Given the description of an element on the screen output the (x, y) to click on. 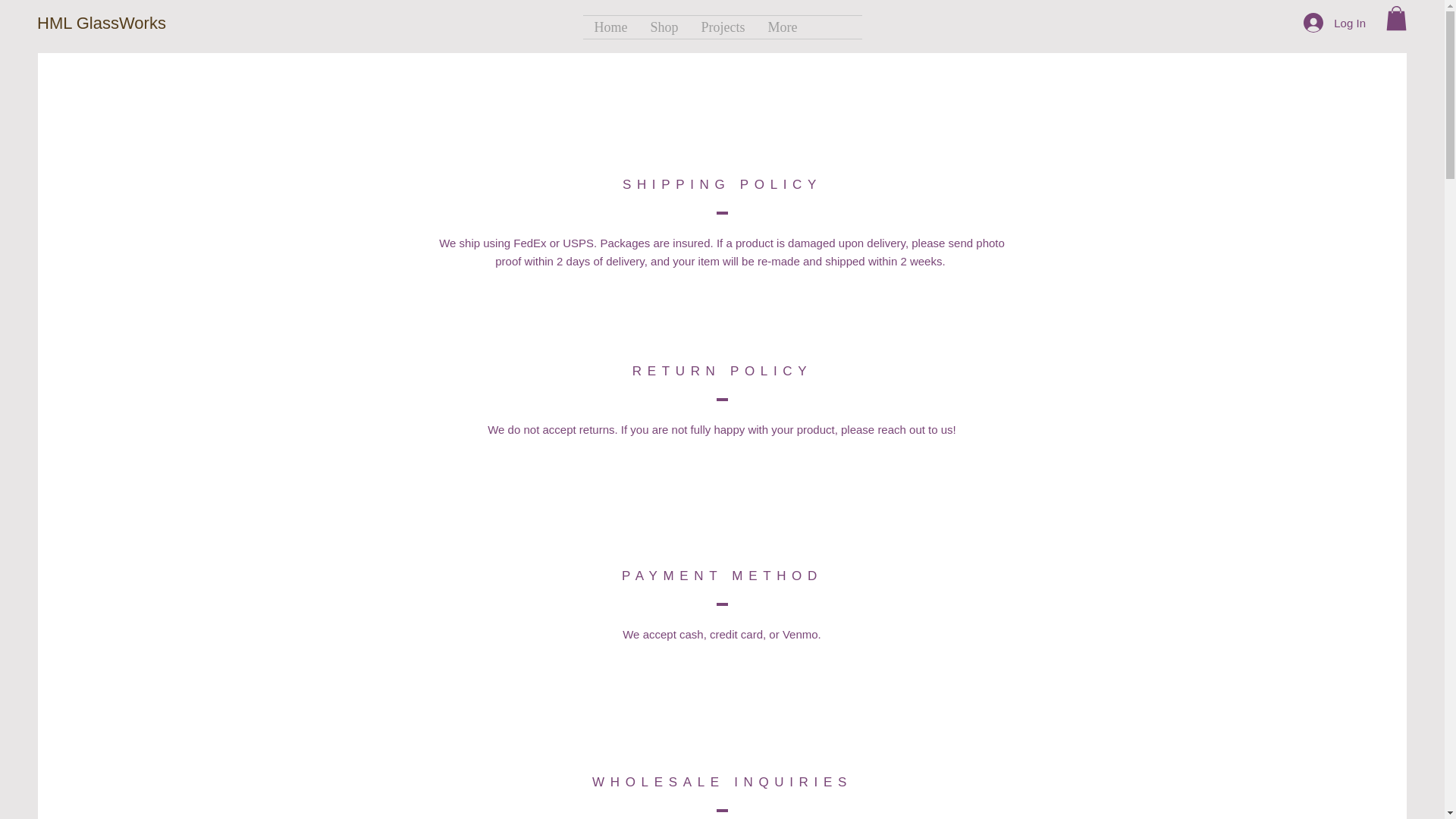
Home (610, 26)
Shop (663, 26)
Log In (1333, 22)
Projects (723, 26)
HML GlassWorks (101, 23)
